Given the description of an element on the screen output the (x, y) to click on. 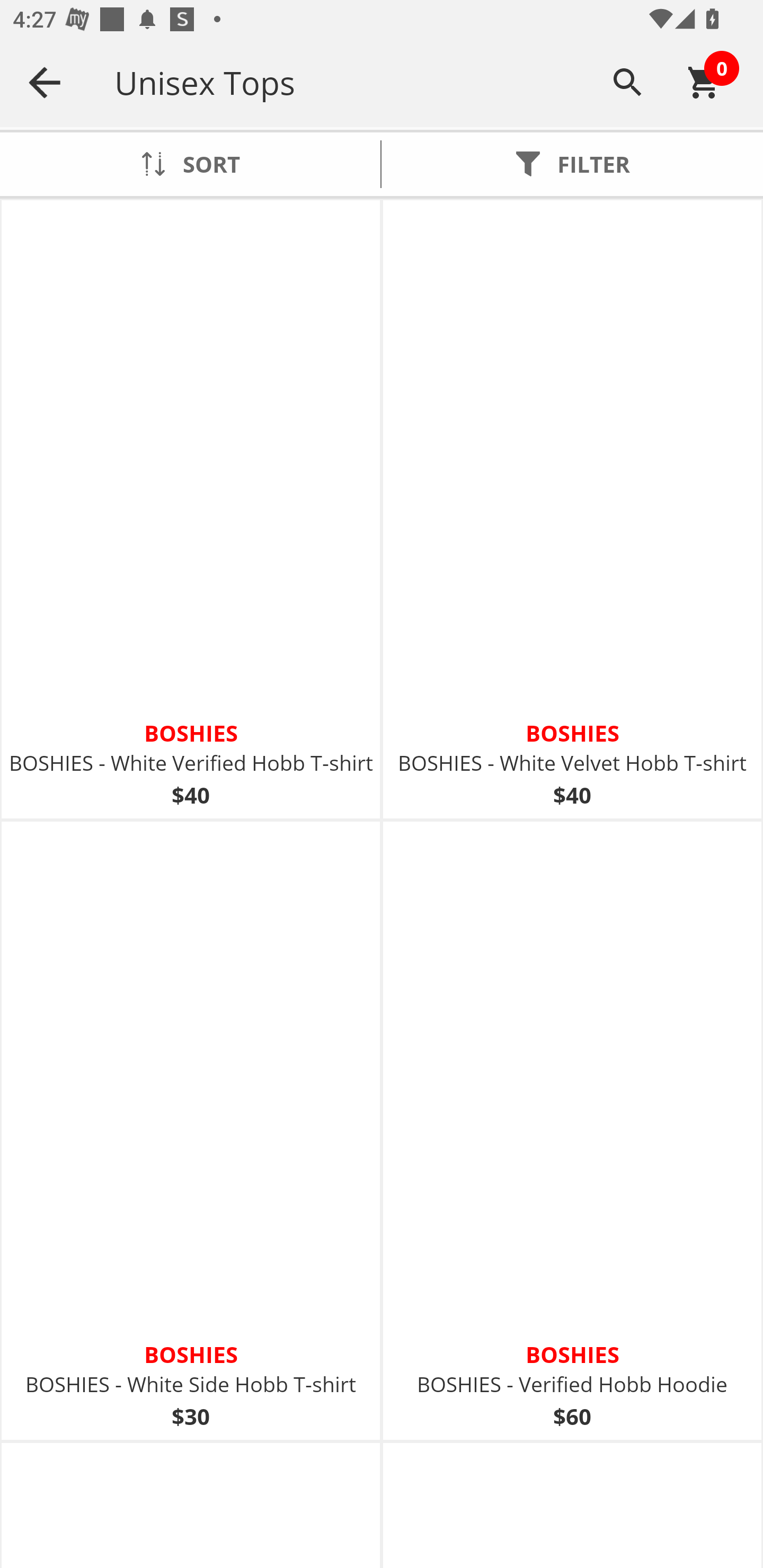
Navigate up (44, 82)
SORT (190, 163)
FILTER (572, 163)
BOSHIES BOSHIES - White Verified Hobb T-shirt $40 (190, 509)
BOSHIES BOSHIES - White Velvet Hobb T-shirt $40 (572, 509)
BOSHIES BOSHIES - White Side Hobb T-shirt $30 (190, 1130)
BOSHIES BOSHIES - Verified Hobb Hoodie $60 (572, 1130)
